Given the description of an element on the screen output the (x, y) to click on. 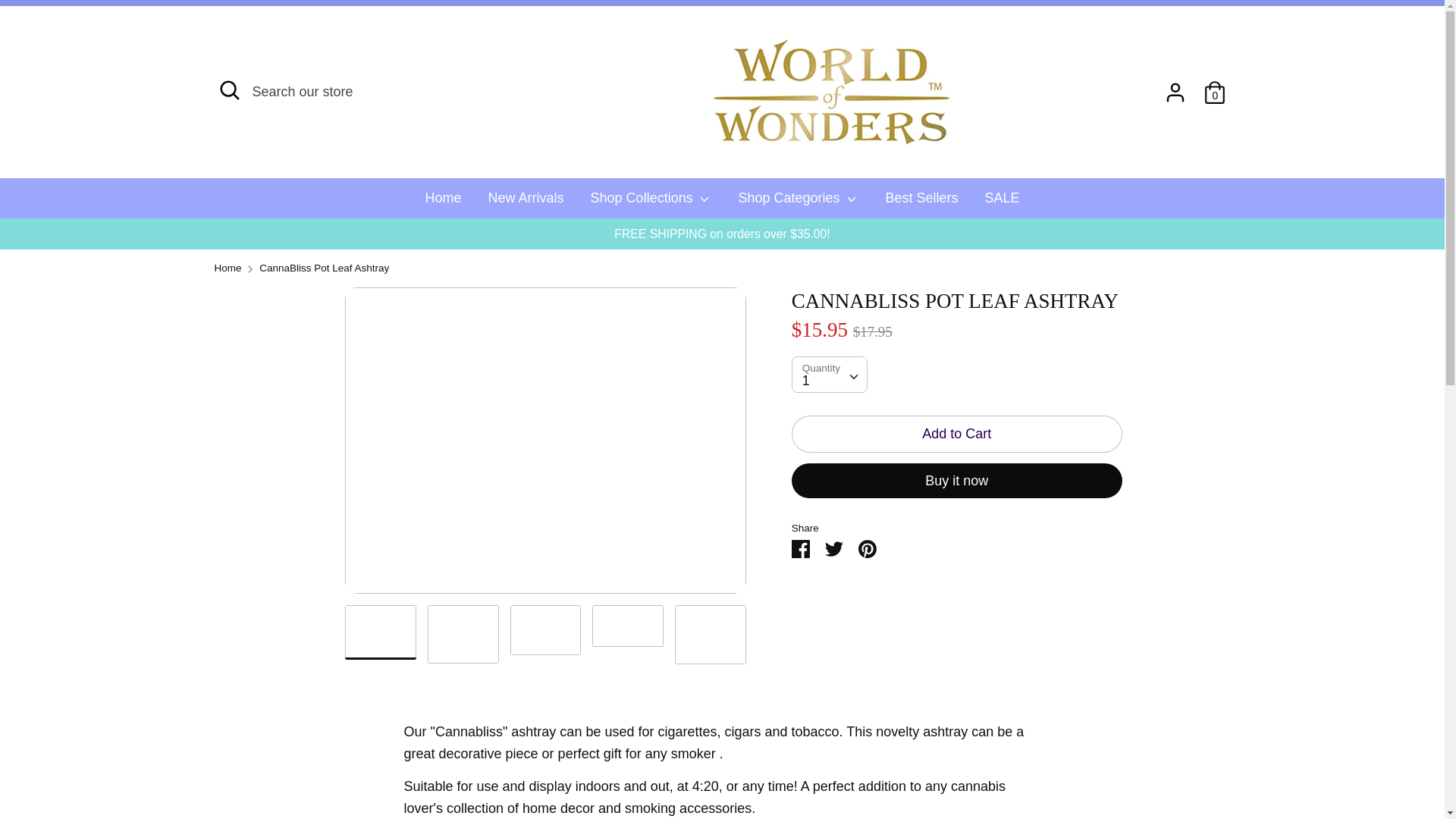
1 (829, 374)
0 (1214, 87)
